Given the description of an element on the screen output the (x, y) to click on. 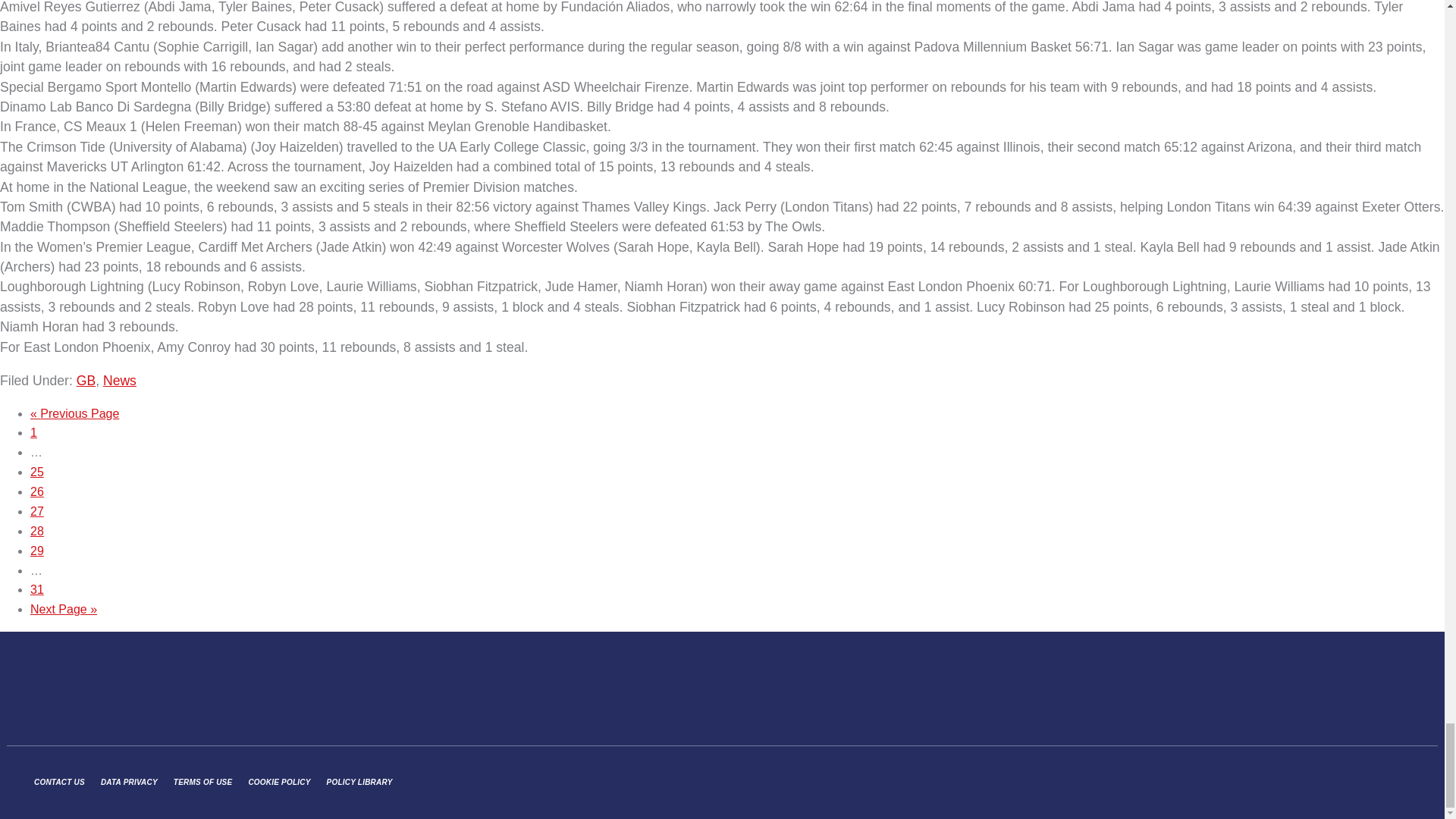
Sport England (1179, 688)
National Lottery (1359, 687)
British Wheelchair Basketball Logo White (98, 688)
